Given the description of an element on the screen output the (x, y) to click on. 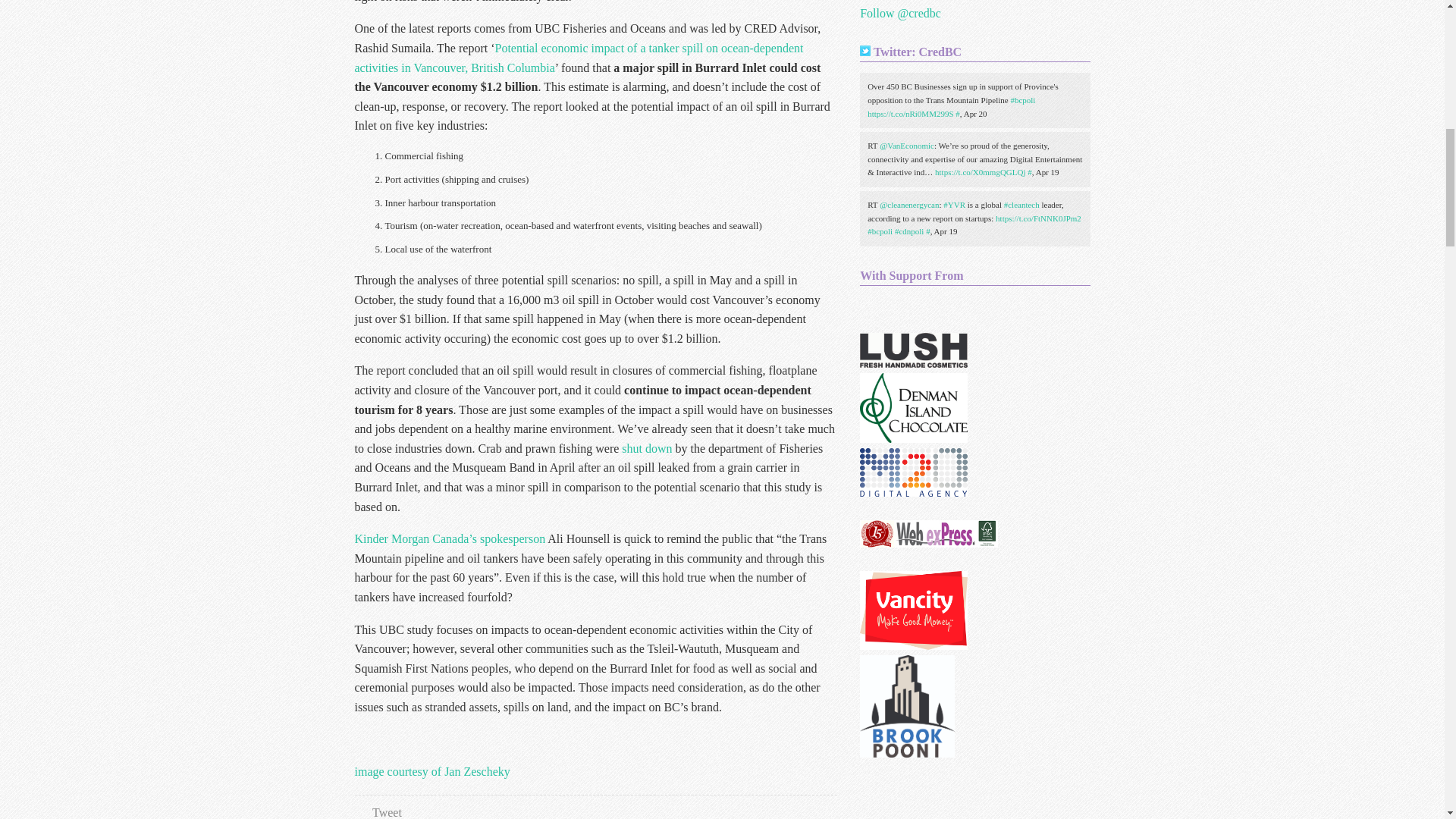
shut down (646, 448)
Tweet (386, 812)
image courtesy of Jan Zescheky (433, 771)
